Given the description of an element on the screen output the (x, y) to click on. 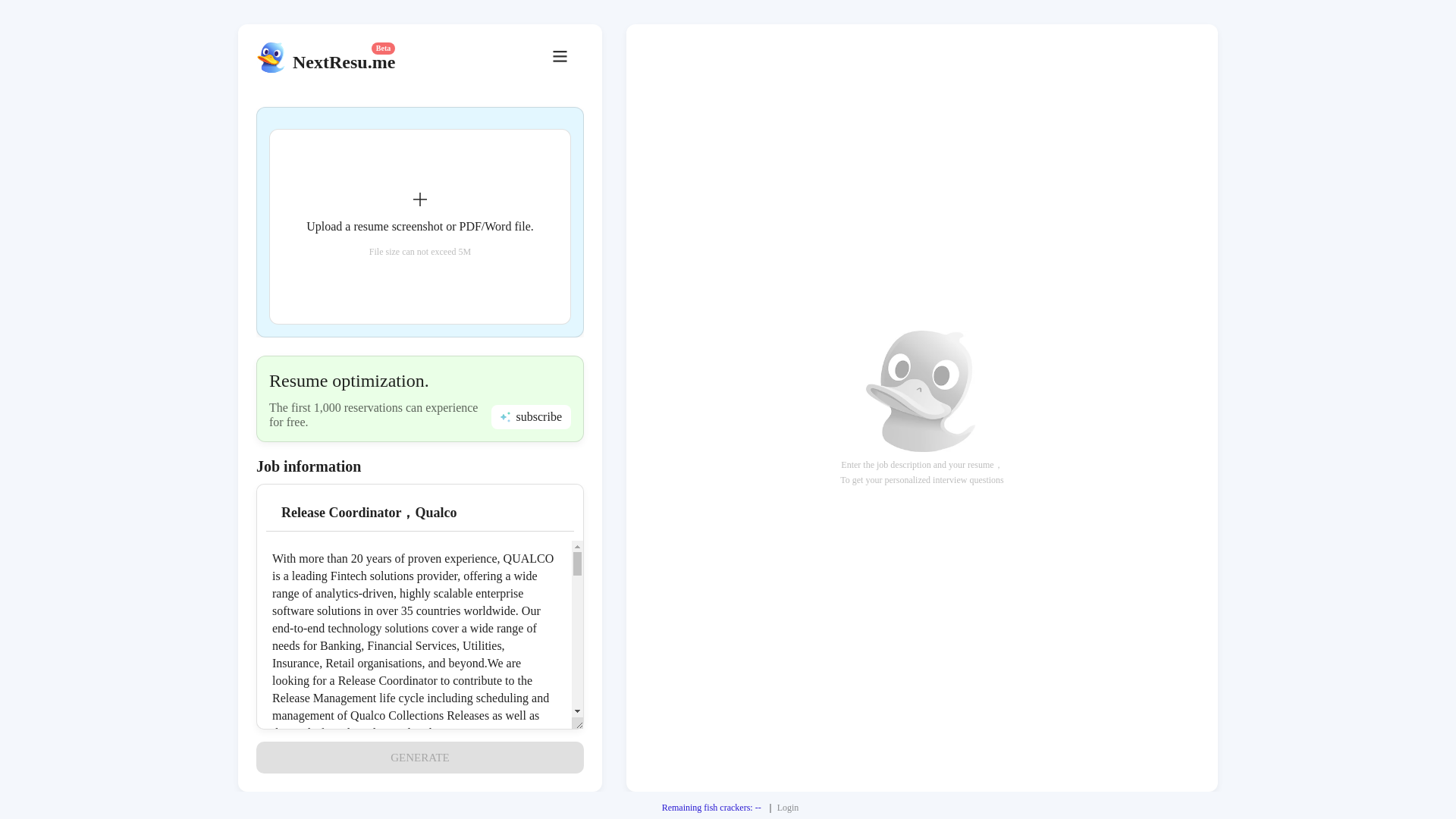
Remaining fish crackers: -- (711, 807)
subscribe (531, 416)
Login (788, 807)
GENERATE (419, 757)
